Given the description of an element on the screen output the (x, y) to click on. 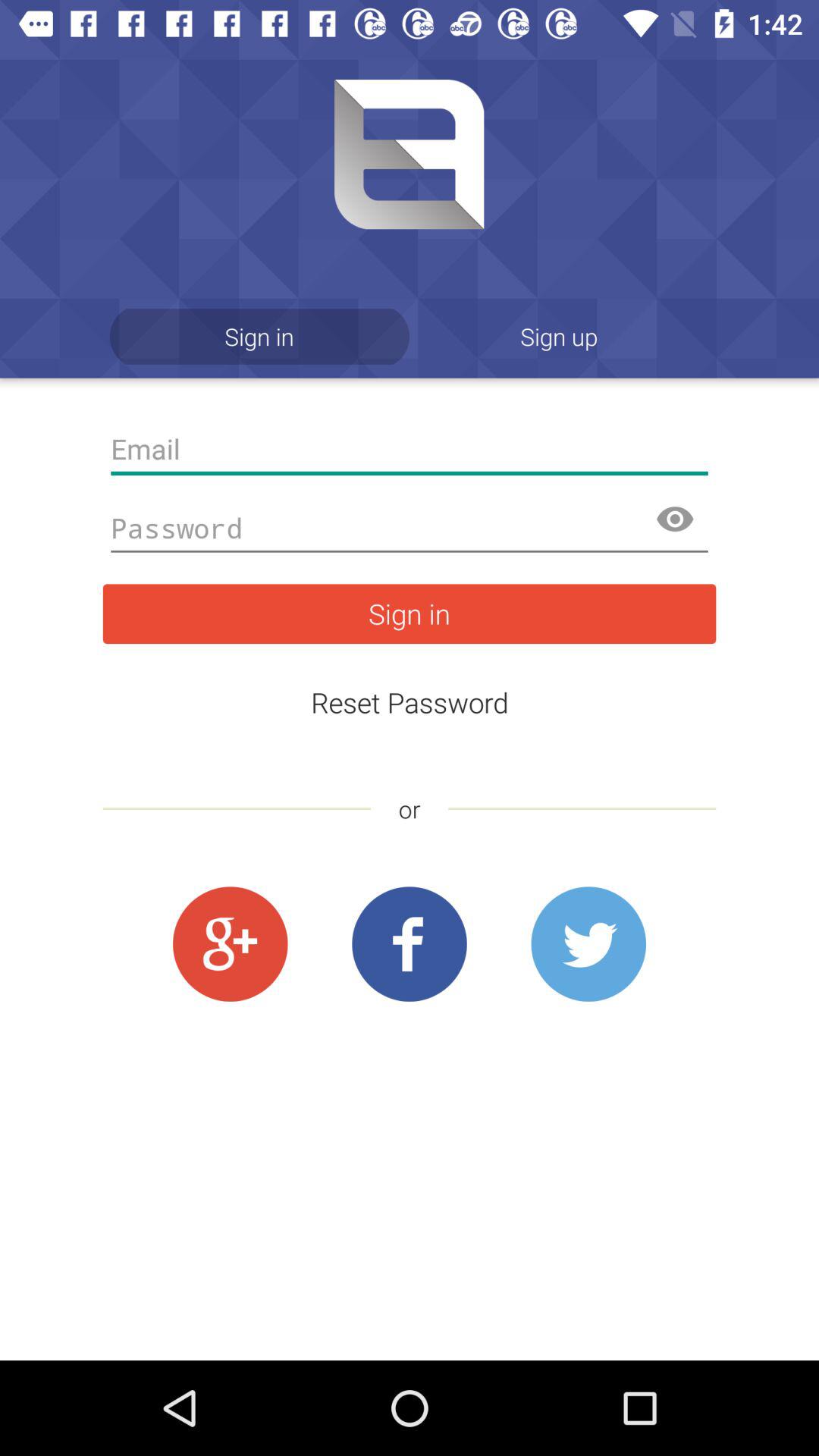
flip until sign up (559, 336)
